Given the description of an element on the screen output the (x, y) to click on. 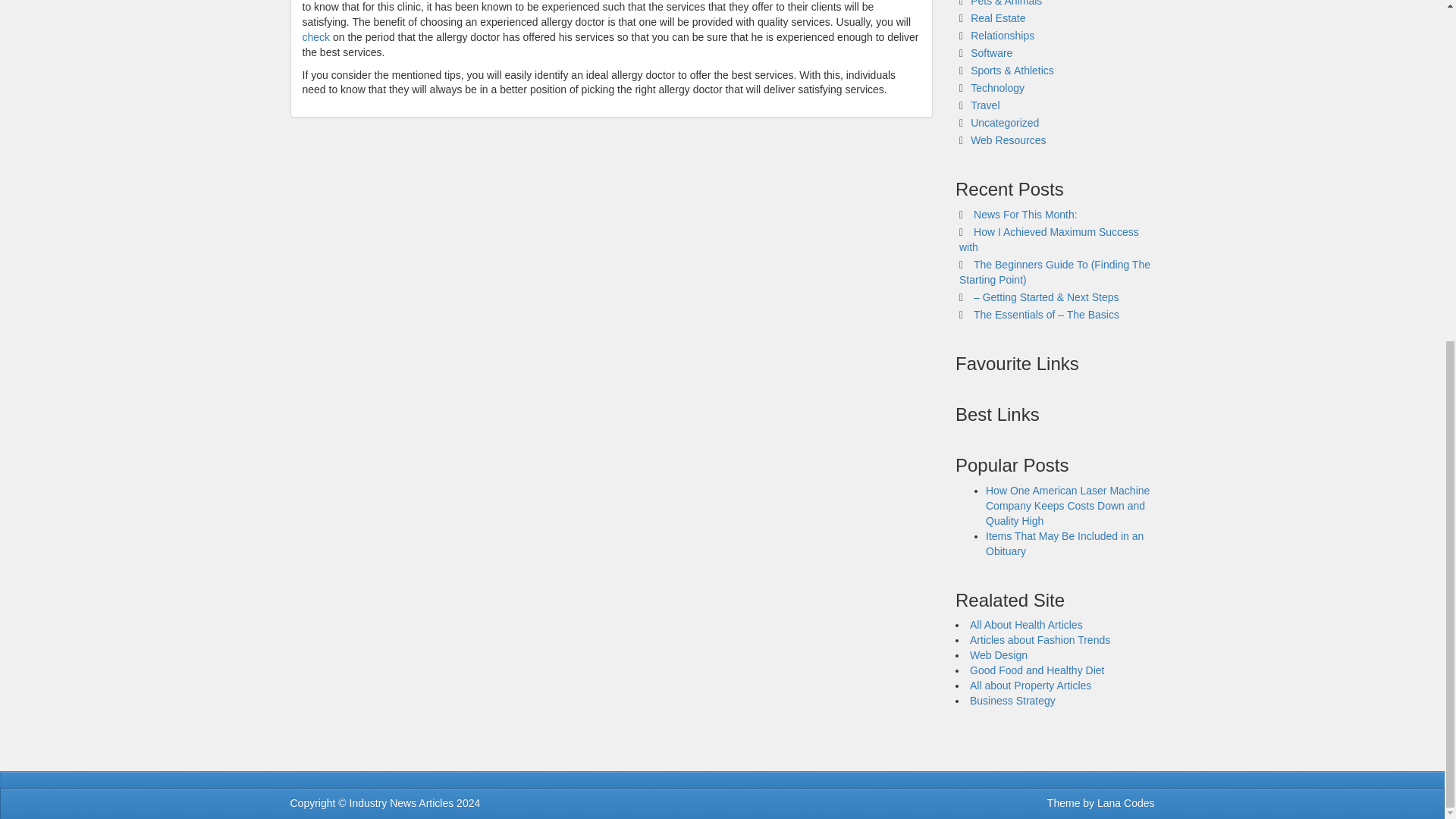
Technology (998, 87)
Uncategorized (1005, 122)
Travel (984, 105)
Real Estate (998, 18)
check (315, 37)
Software (991, 52)
News For This Month: (1025, 214)
How I Achieved Maximum Success with (1048, 239)
Items That May Be Included in an Obituary (1063, 543)
